Given the description of an element on the screen output the (x, y) to click on. 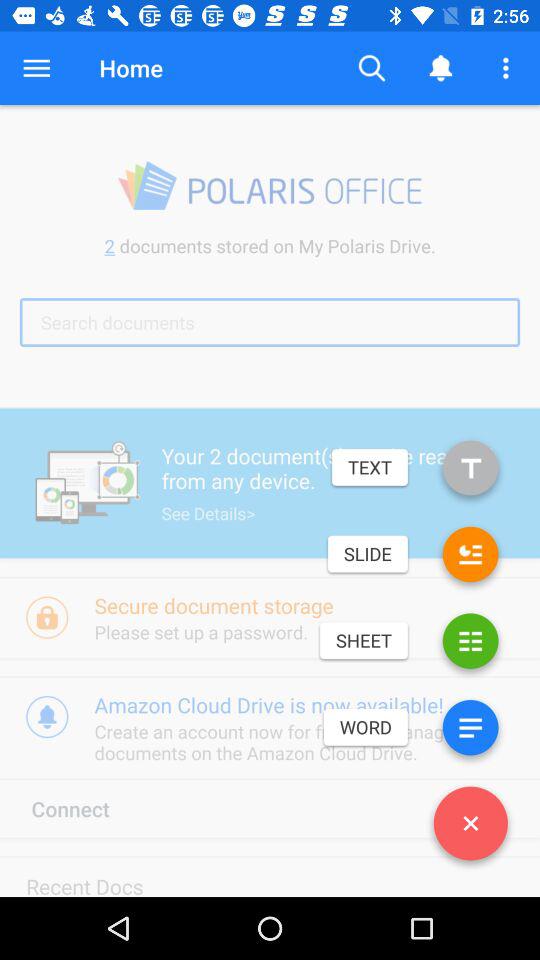
spreadsheet (470, 644)
